Given the description of an element on the screen output the (x, y) to click on. 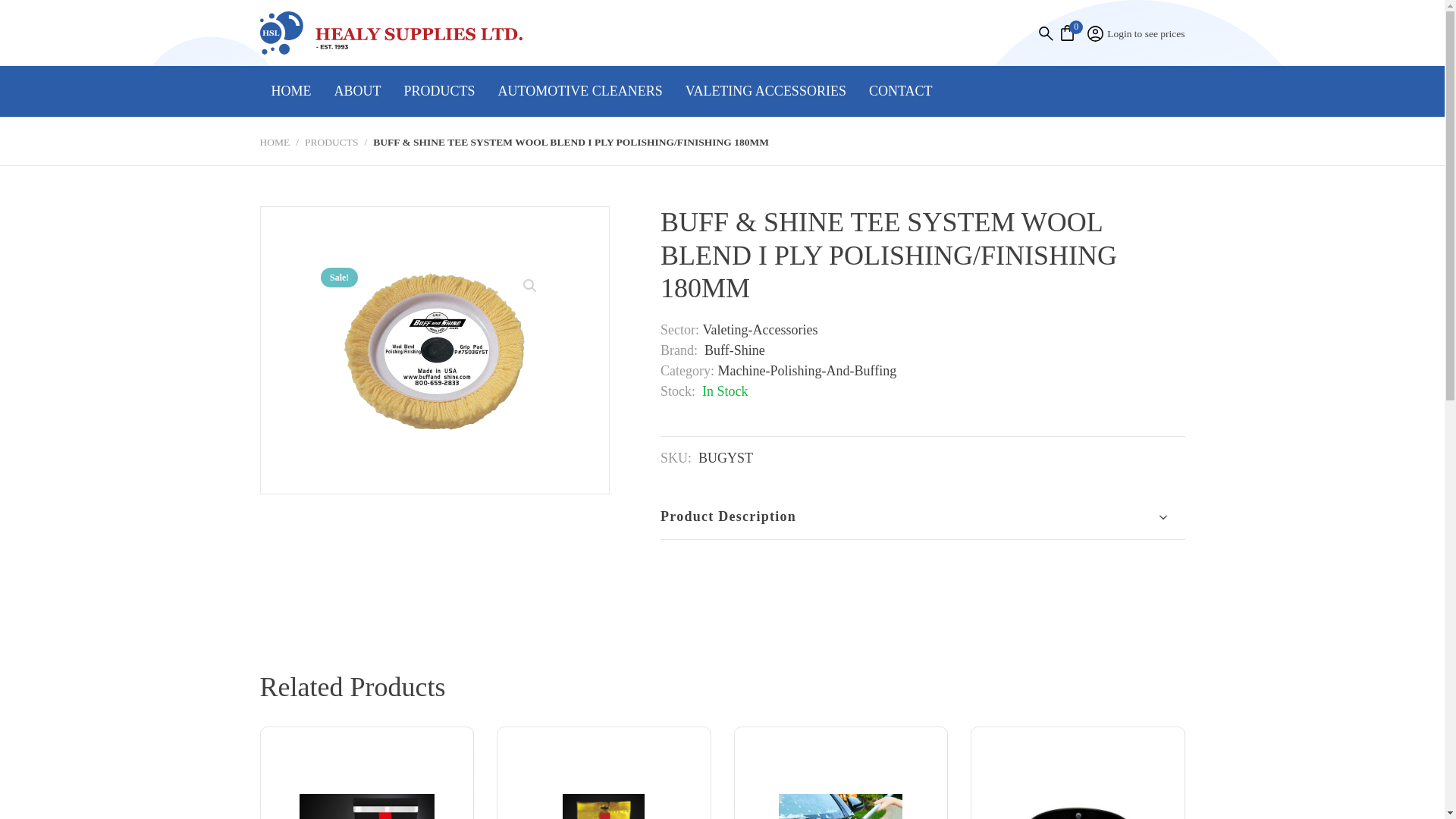
HOME (290, 91)
CONTACT (900, 91)
VALETING ACCESSORIES (765, 91)
HOME (274, 142)
PRODUCTS (331, 142)
PRODUCTS (439, 91)
AUTOMOTIVE CLEANERS (580, 91)
Product Description (923, 517)
ABOUT (358, 91)
Search (24, 10)
Products (331, 142)
HOME (274, 142)
